Given the description of an element on the screen output the (x, y) to click on. 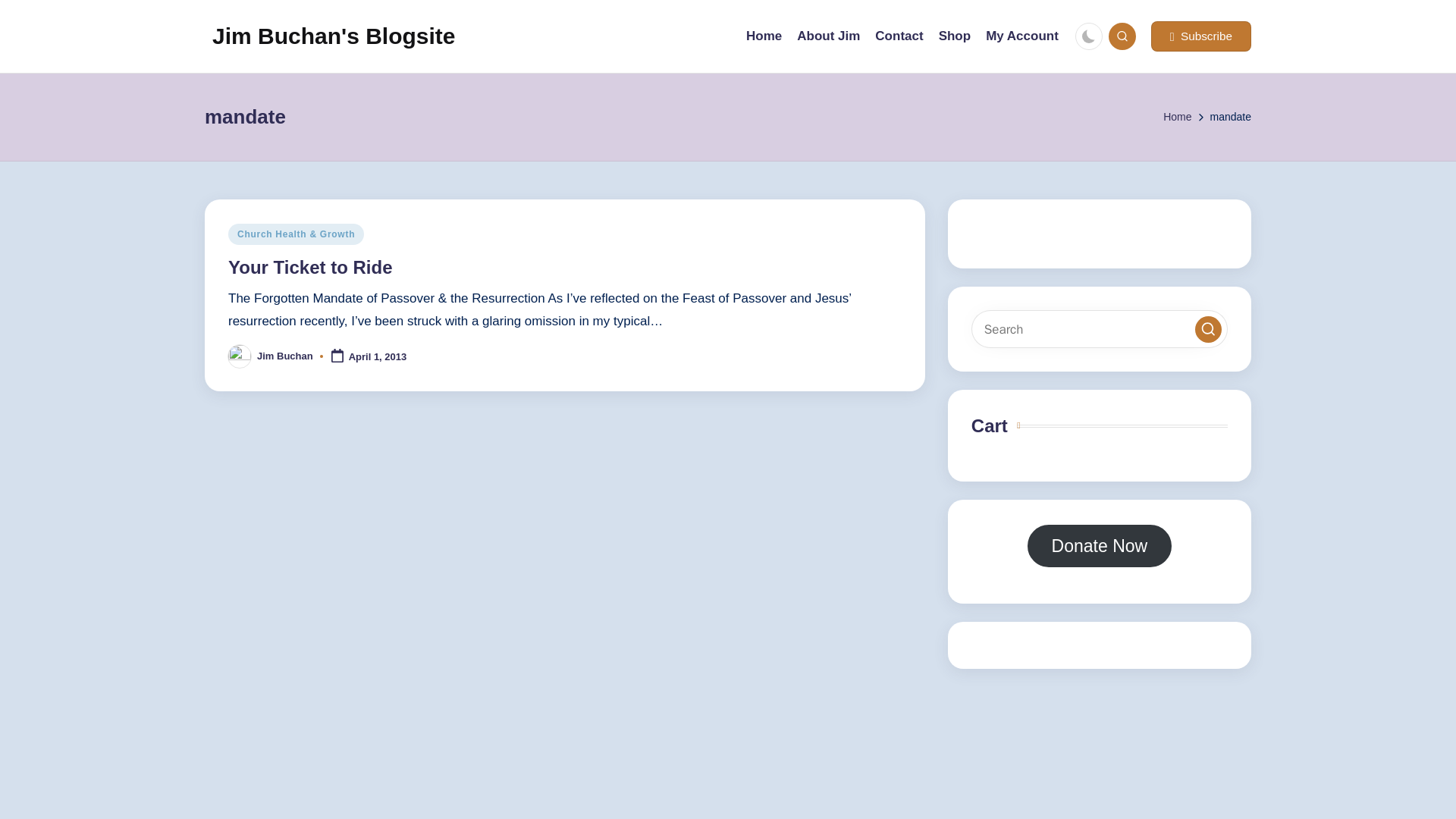
Your Ticket to Ride (309, 267)
Jim Buchan's Blogsite (333, 36)
Contact (899, 36)
Home (763, 36)
Home (1177, 116)
Subscribe (1200, 36)
Jim Buchan (285, 355)
Your Ticket to Ride (309, 267)
Donate Now (1099, 545)
Shop (955, 36)
